Given the description of an element on the screen output the (x, y) to click on. 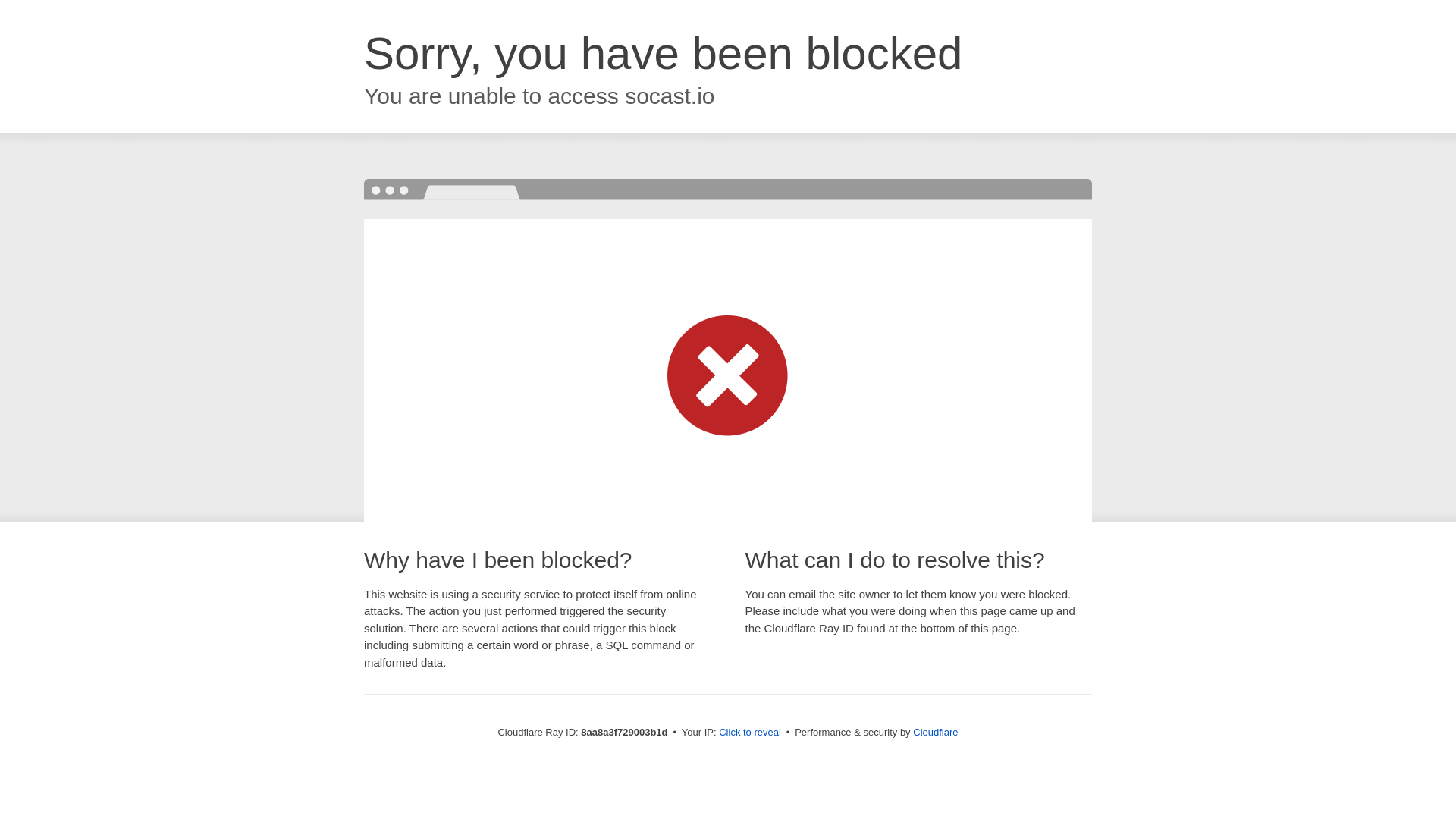
Cloudflare (935, 731)
Click to reveal (749, 732)
